Given the description of an element on the screen output the (x, y) to click on. 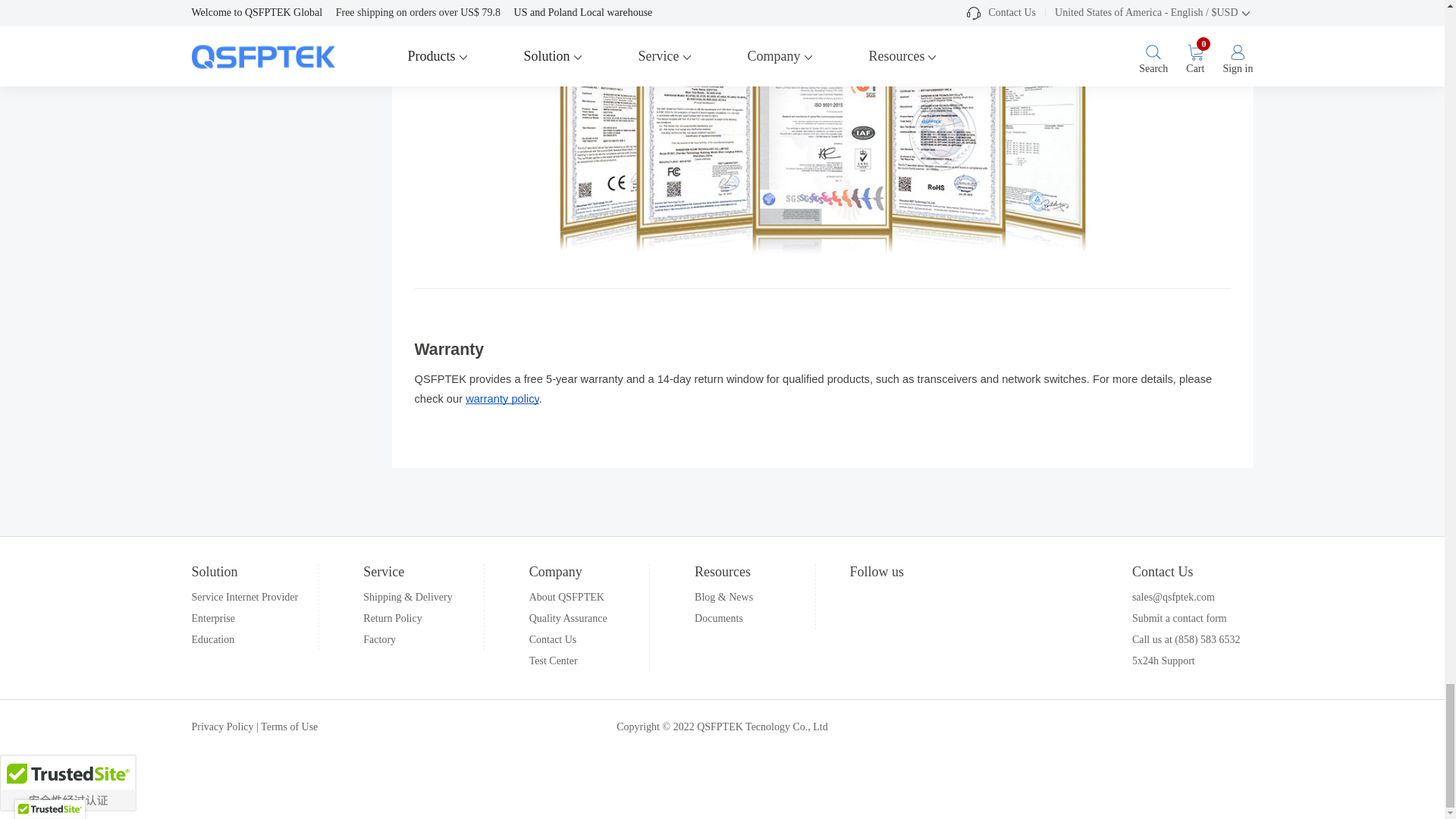
TrustedSite Certified (68, 782)
